Given the description of an element on the screen output the (x, y) to click on. 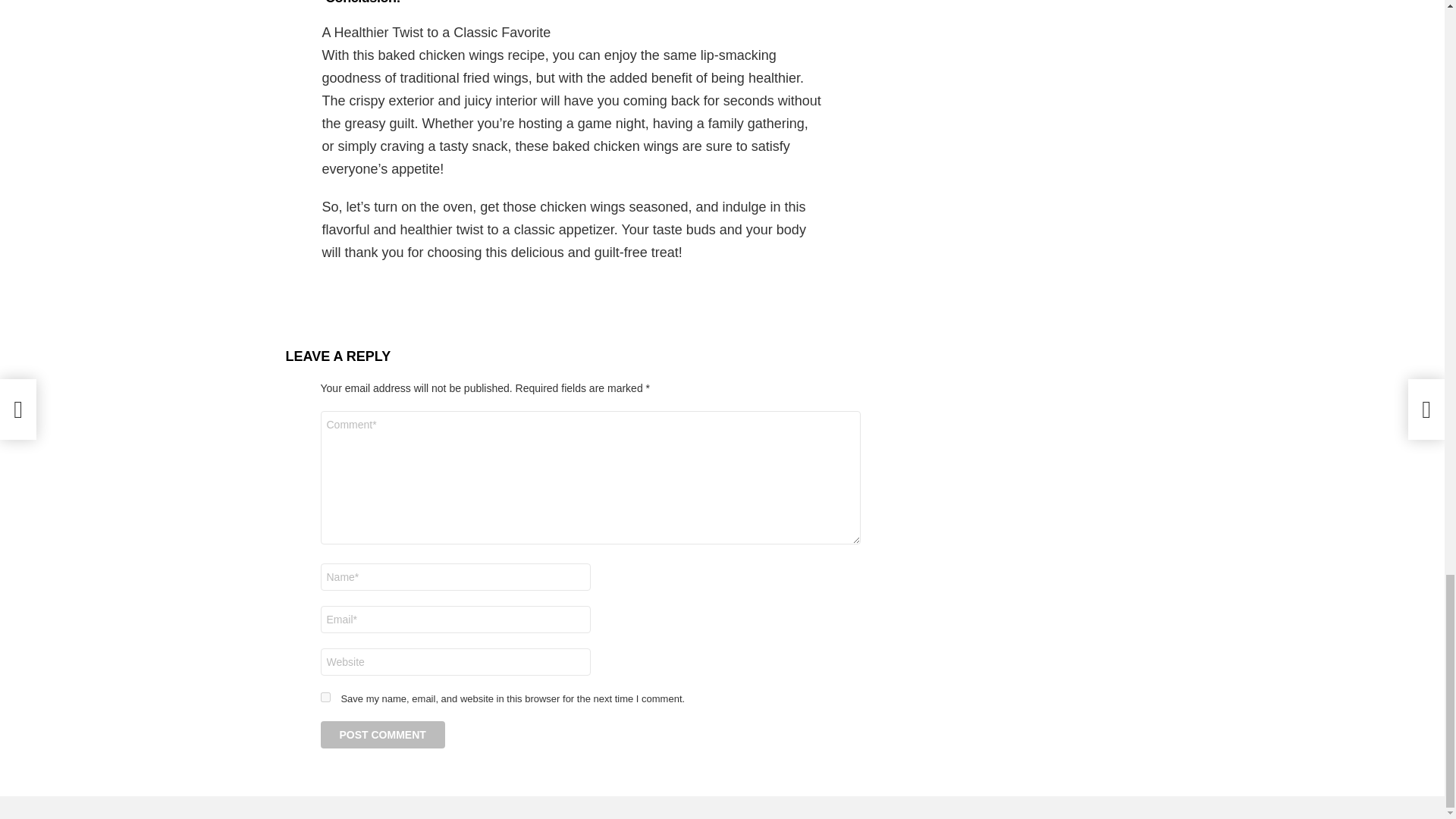
yes (325, 696)
Post Comment (382, 734)
Post Comment (382, 734)
